Given the description of an element on the screen output the (x, y) to click on. 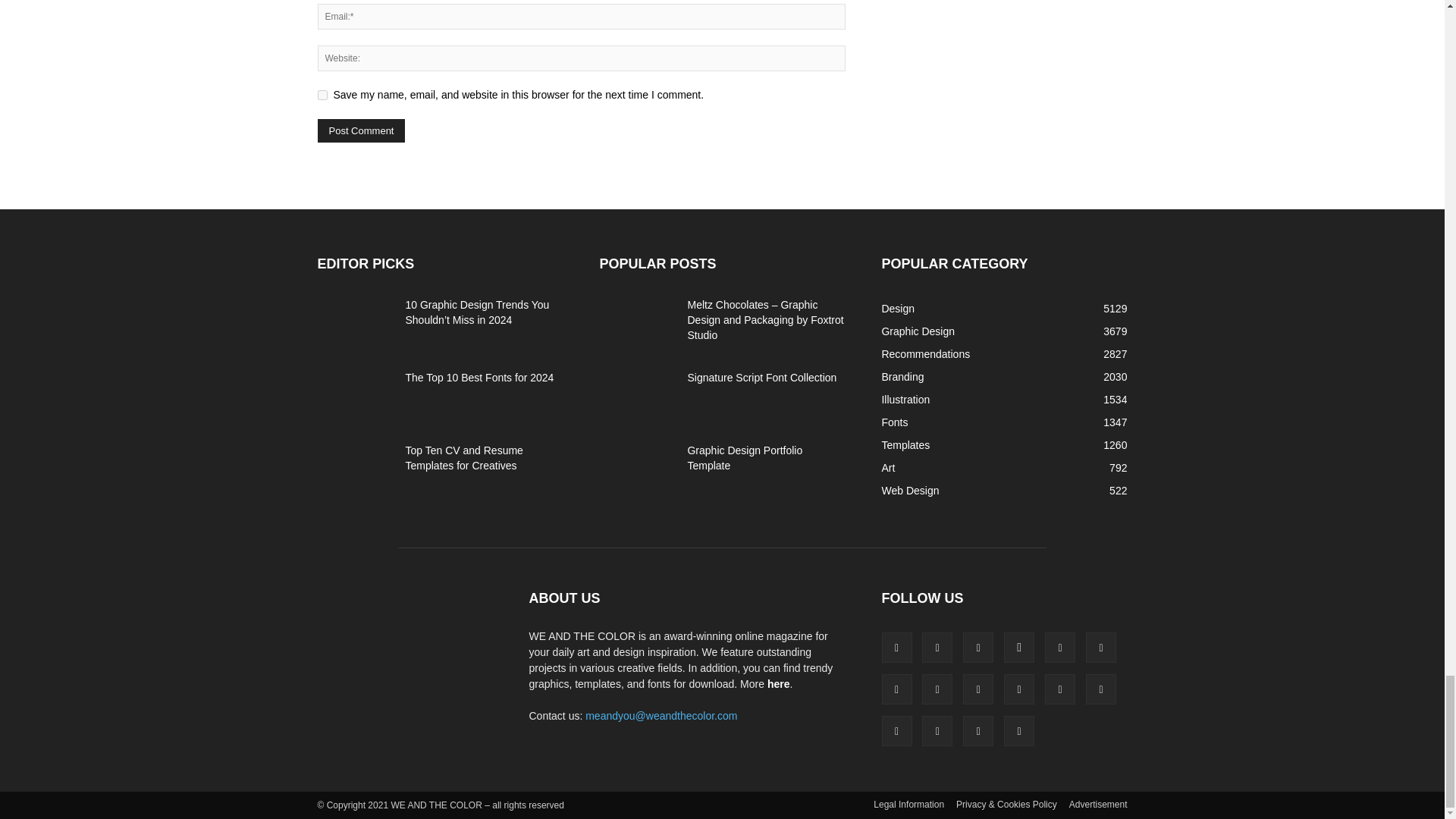
yes (321, 94)
Post Comment (360, 130)
